Given the description of an element on the screen output the (x, y) to click on. 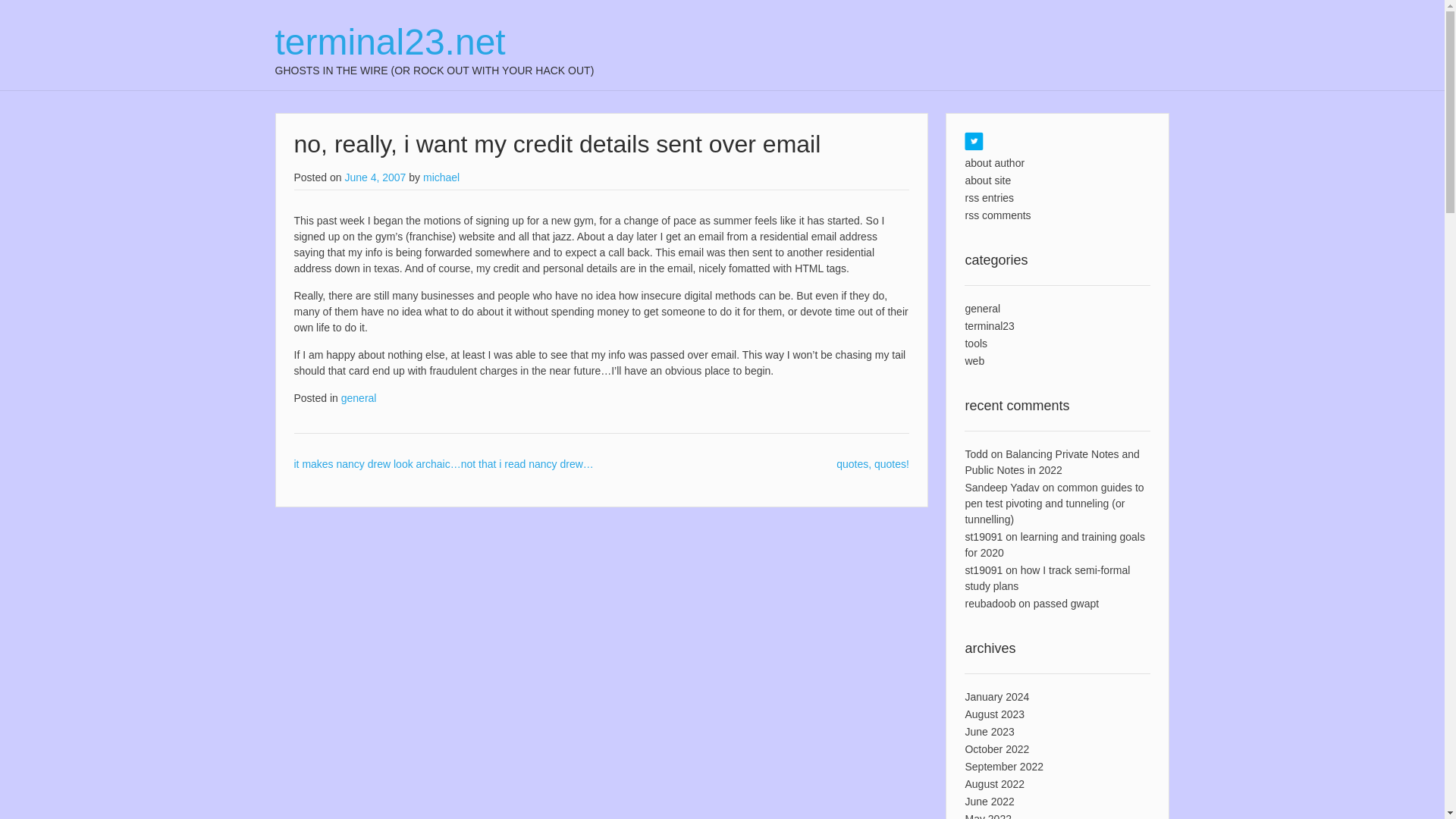
June 2023 (988, 731)
general (358, 398)
terminal23.net (434, 42)
quotes, quotes! (871, 463)
how I track semi-formal study plans (1046, 578)
passed gwapt (1066, 603)
September 2022 (1003, 766)
August 2022 (994, 784)
rss comments (996, 215)
terminal23 (988, 326)
